Given the description of an element on the screen output the (x, y) to click on. 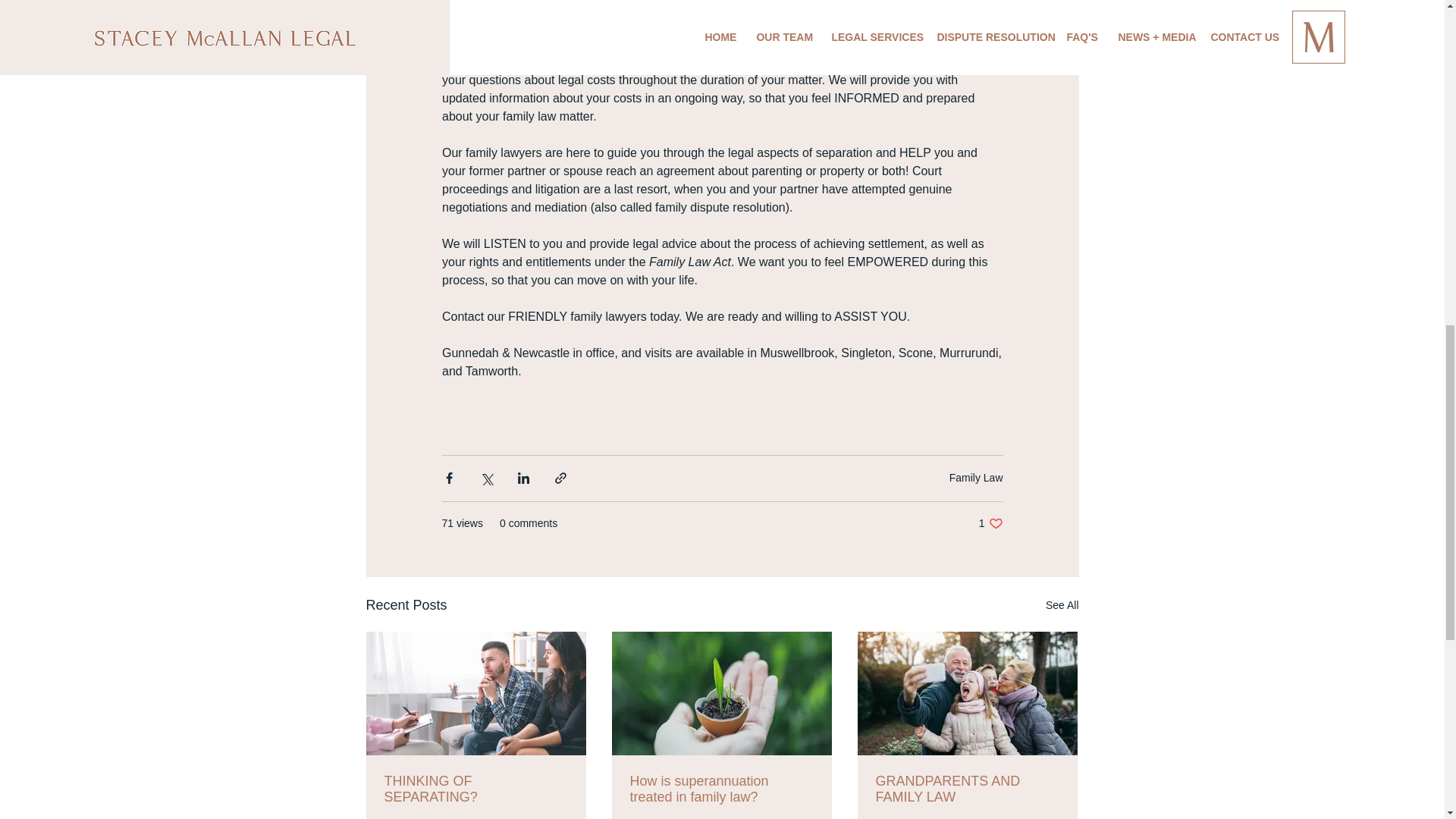
See All (990, 523)
THINKING OF SEPARATING? (1061, 605)
GRANDPARENTS AND FAMILY LAW (475, 789)
Family Law (966, 789)
How is superannuation treated in family law? (976, 477)
